Given the description of an element on the screen output the (x, y) to click on. 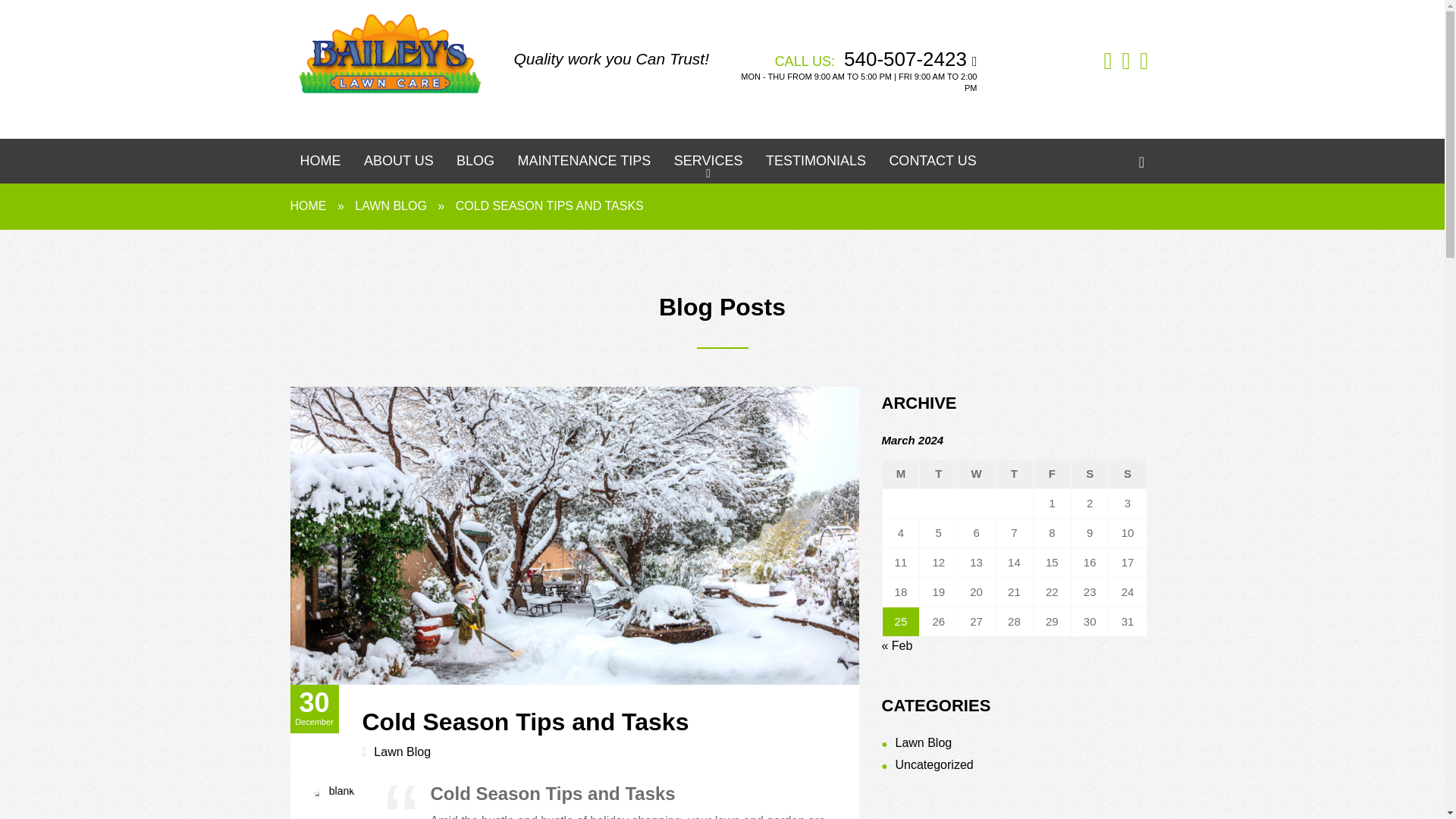
LAWN BLOG (390, 205)
Blog (474, 164)
TESTIMONIALS (815, 164)
MAINTENANCE TIPS (584, 164)
BLOG (474, 164)
ABOUT US (398, 164)
Home (319, 164)
Testimonials (815, 164)
Maintenance Tips (584, 164)
Lawn Blog (402, 751)
540-507-2423 (905, 58)
Contact Us (932, 164)
Lawn Blog (923, 742)
Services (707, 164)
CONTACT US (932, 164)
